Given the description of an element on the screen output the (x, y) to click on. 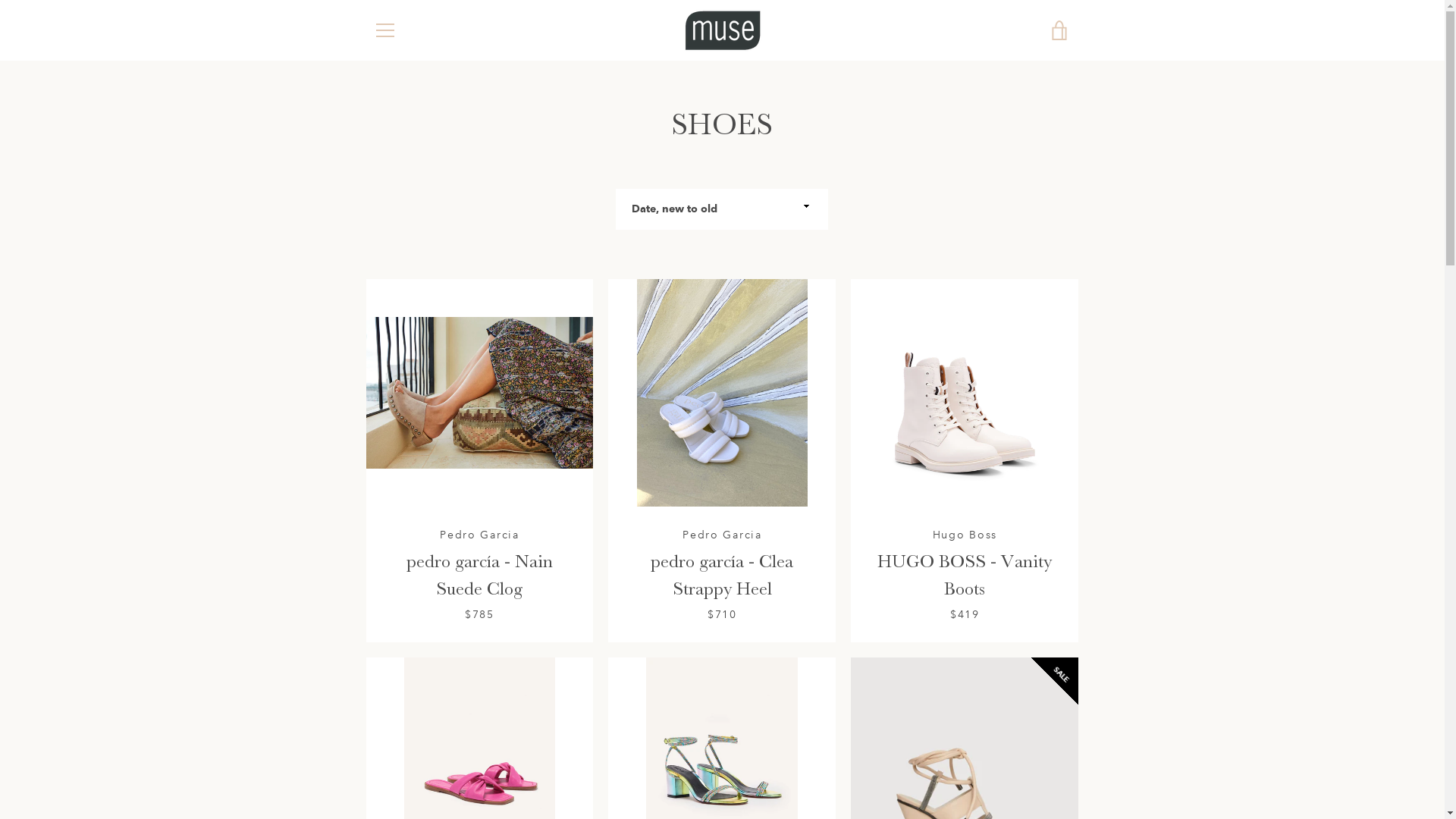
Skip to content Element type: text (0, 0)
CONTACT US Element type: text (406, 674)
MENU Element type: text (384, 30)
Instagram Element type: text (372, 765)
SUBSCRIBE Element type: text (1031, 677)
SHIPPING & RETURNS Element type: text (428, 630)
Hugo Boss
HUGO BOSS - Vanity Boots
$419 Element type: text (964, 460)
Muse Boutique Hawthorn Element type: text (764, 756)
SIZING Element type: text (390, 652)
ABOUT Element type: text (391, 607)
Powered by Shopify Element type: text (721, 776)
SEARCH Element type: text (393, 696)
VIEW CART Element type: text (1059, 30)
